Given the description of an element on the screen output the (x, y) to click on. 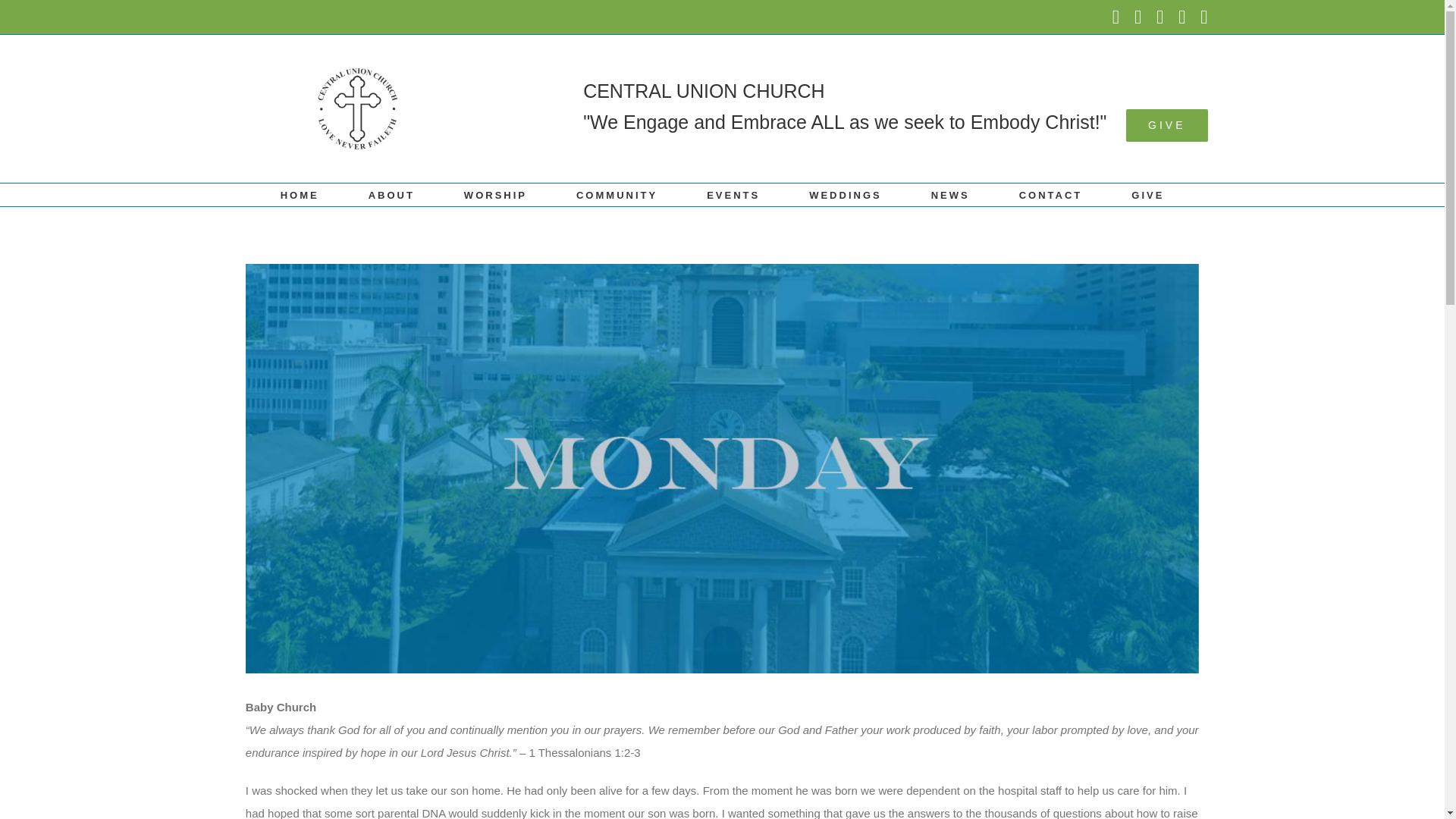
HOME (299, 194)
WEDDINGS (845, 194)
GIVE (1147, 194)
CONTACT (1051, 194)
ABOUT (391, 194)
WORSHIP (495, 194)
EVENTS (733, 194)
COMMUNITY (617, 194)
NEWS (950, 194)
GIVE (1166, 124)
